Given the description of an element on the screen output the (x, y) to click on. 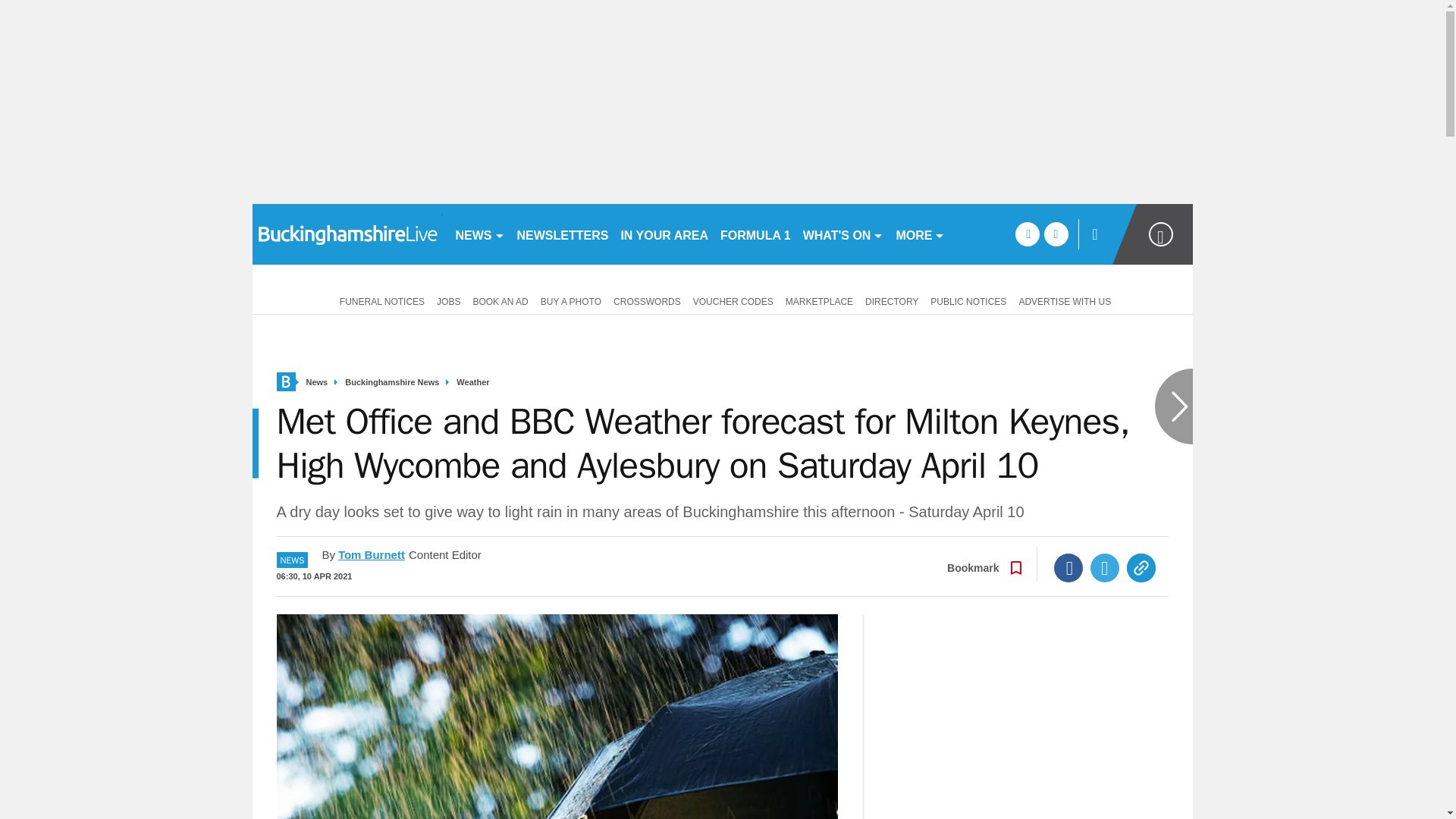
ADVERTISE WITH US (1063, 300)
News (317, 382)
MORE (919, 233)
Twitter (1104, 567)
MARKETPLACE (818, 300)
twitter (1055, 233)
FUNERAL NOTICES (378, 300)
Home (285, 381)
facebook (1026, 233)
VOUCHER CODES (732, 300)
